Given the description of an element on the screen output the (x, y) to click on. 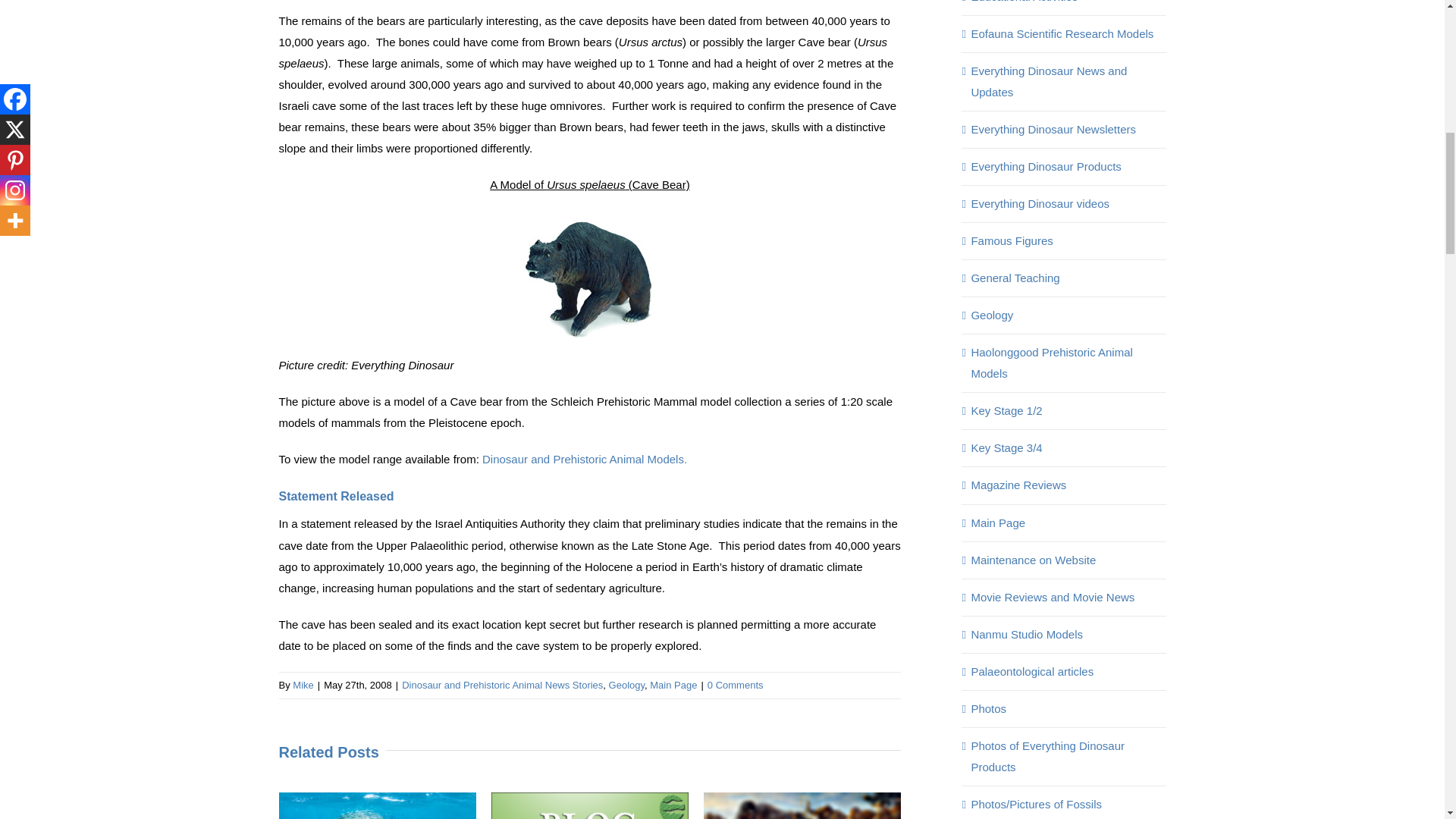
Geology (626, 685)
Posts by Mike (302, 685)
0 Comments (734, 685)
Mike (302, 685)
Dinosaur and Prehistoric Animal News Stories (501, 685)
Main Page (673, 685)
Dinosaur and Prehistoric Animal Models. (584, 459)
